Given the description of an element on the screen output the (x, y) to click on. 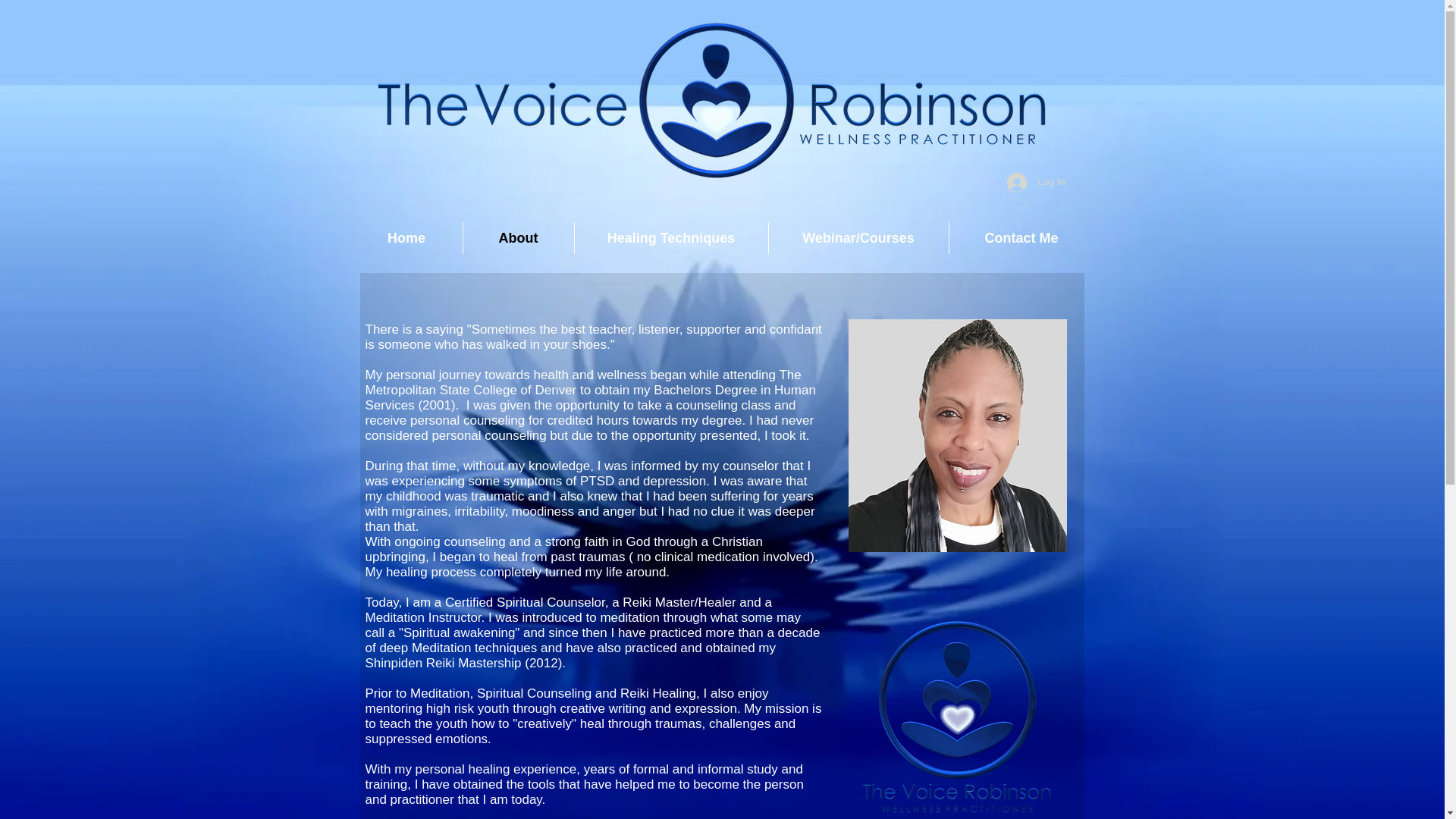
main nobgrd.png (957, 718)
About (518, 237)
Log In (1035, 182)
Healing Techniques (671, 237)
IMAG1474.jpg (956, 435)
Contact Me (1021, 237)
Home (405, 237)
